Given the description of an element on the screen output the (x, y) to click on. 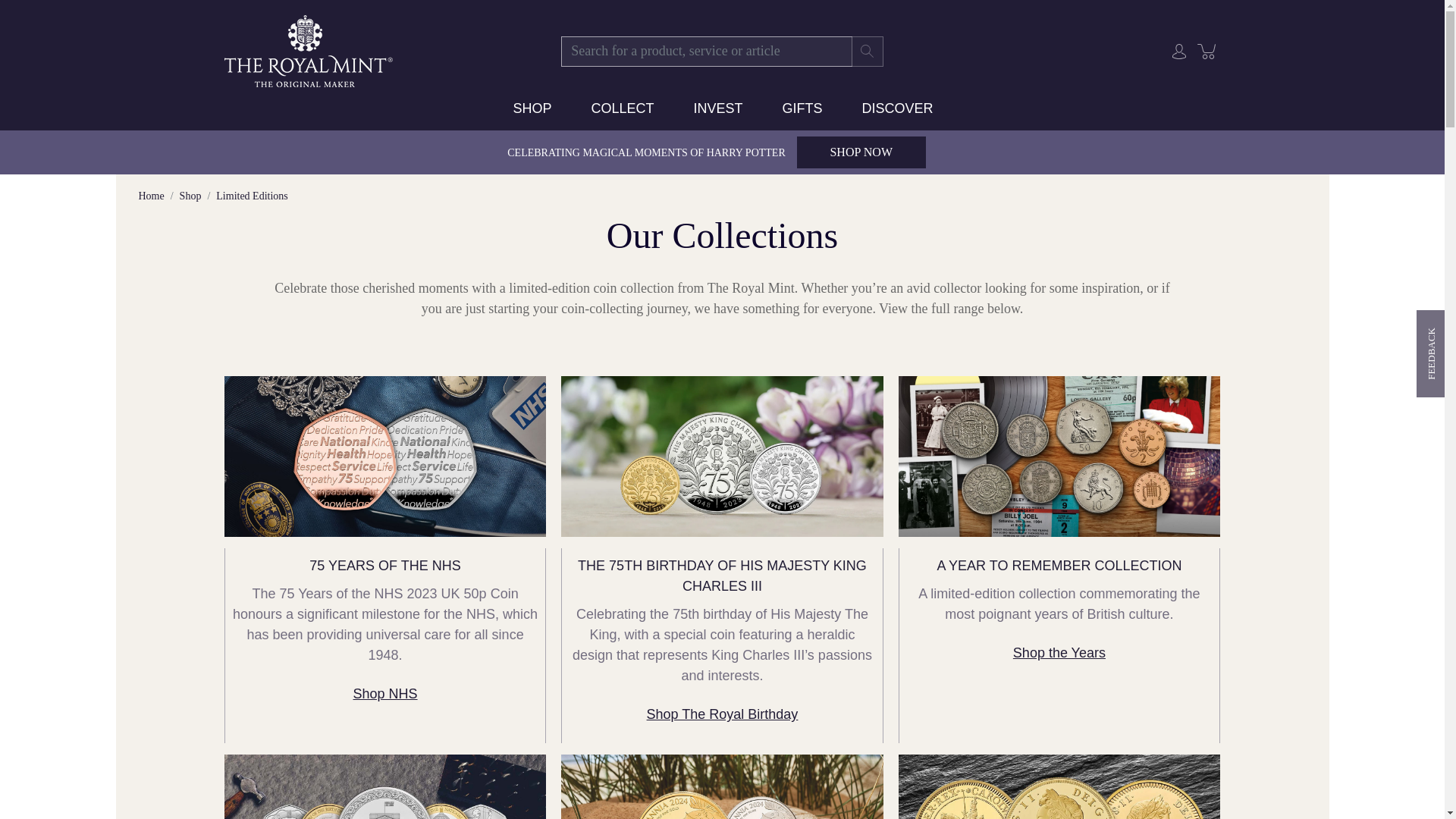
Celebrating a Milestone Royal Birthday -  (721, 456)
The Royal Mint - Copyright (309, 49)
Home (150, 195)
NHS (385, 693)
NHS -  (385, 456)
A Year to Remember Collection -  (1059, 456)
British Monarchs -  (1059, 786)
Annual Sets -  (385, 786)
Britannia -  (721, 786)
SEARCH (867, 51)
